Given the description of an element on the screen output the (x, y) to click on. 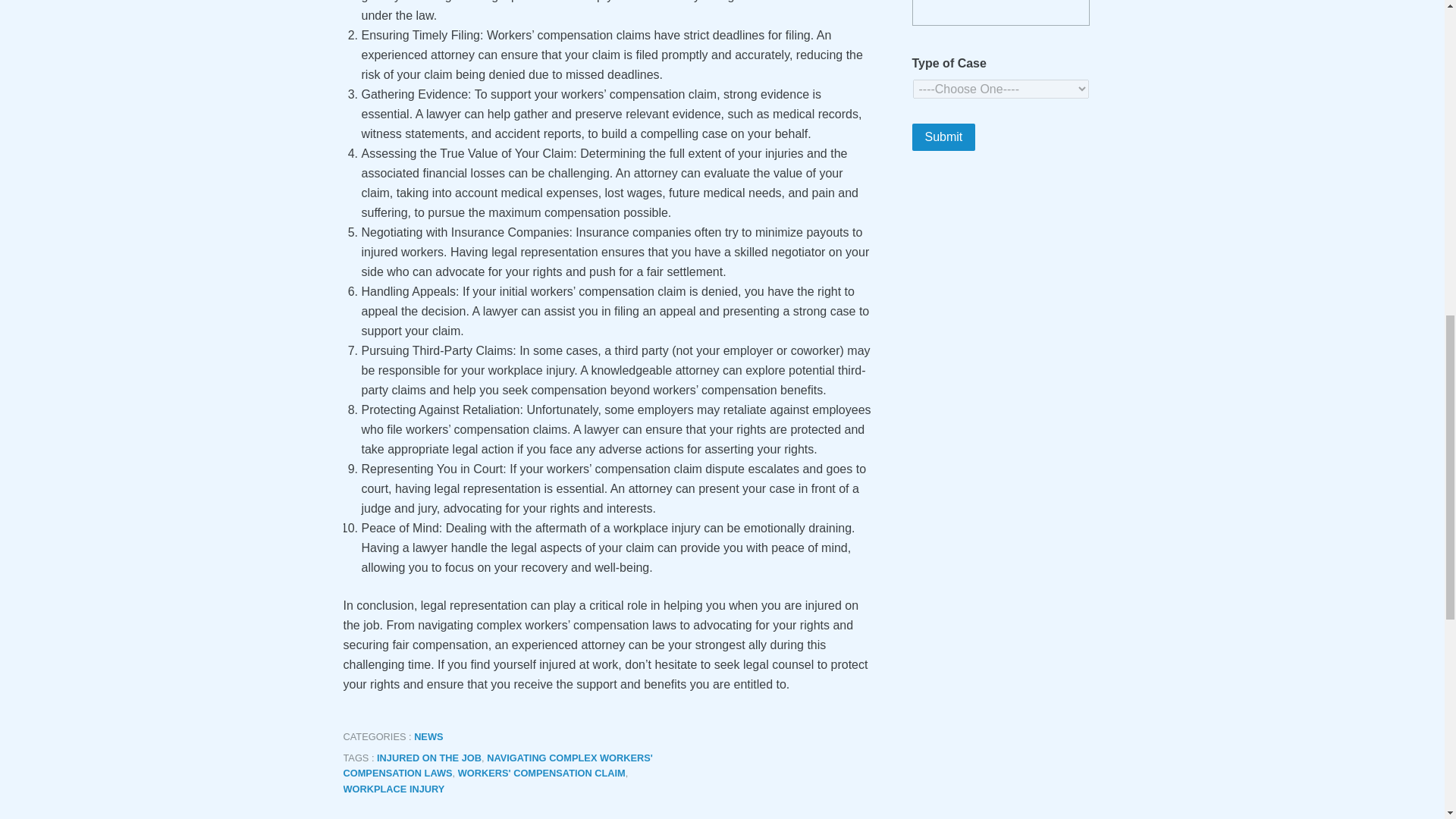
Submit (943, 136)
WORKPLACE INJURY (393, 788)
WORKERS' COMPENSATION CLAIM (542, 772)
INJURED ON THE JOB (429, 757)
Submit (943, 136)
NAVIGATING COMPLEX WORKERS' COMPENSATION LAWS (497, 765)
NEWS (427, 736)
